Given the description of an element on the screen output the (x, y) to click on. 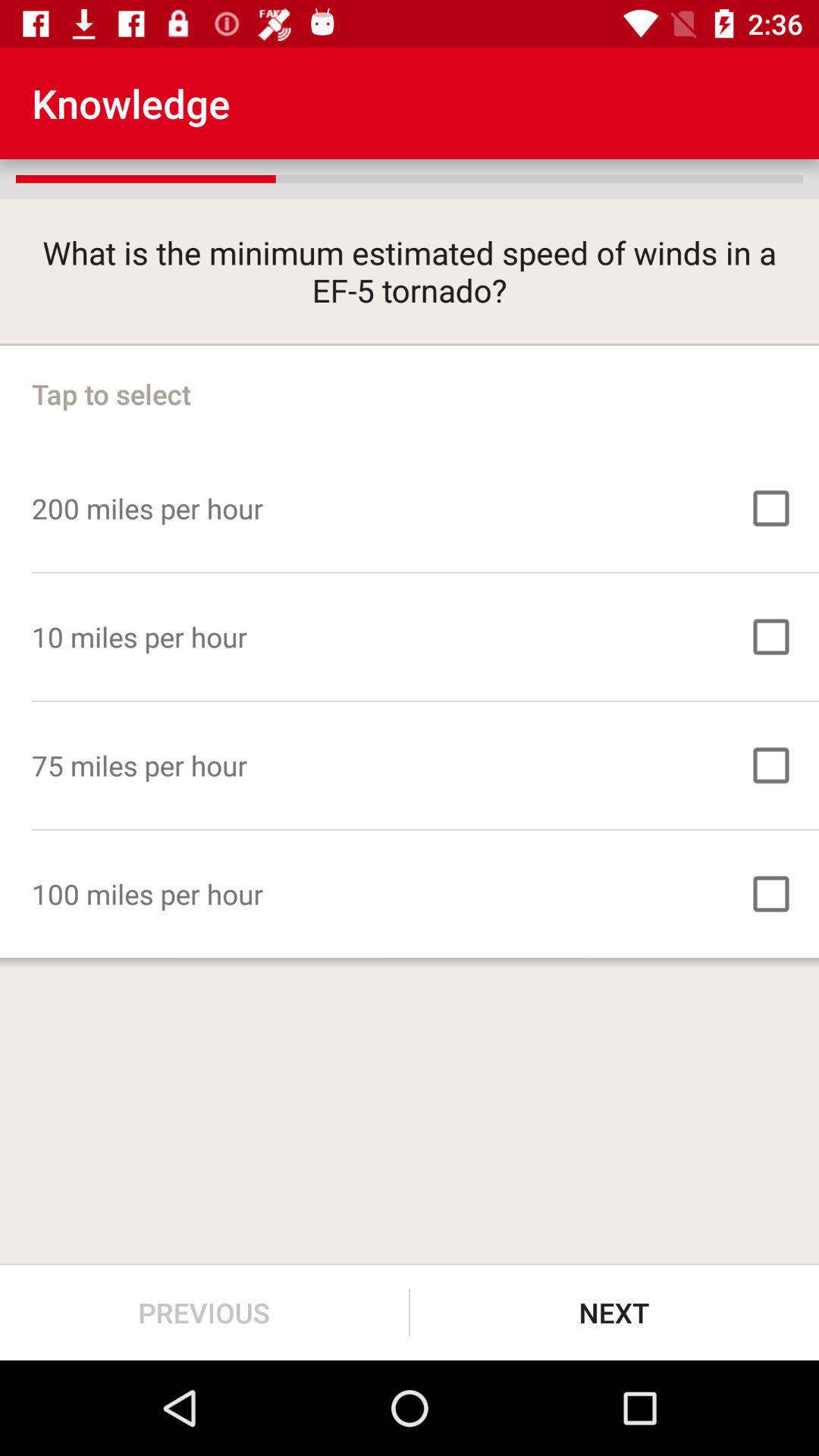
jump to the previous (204, 1312)
